Given the description of an element on the screen output the (x, y) to click on. 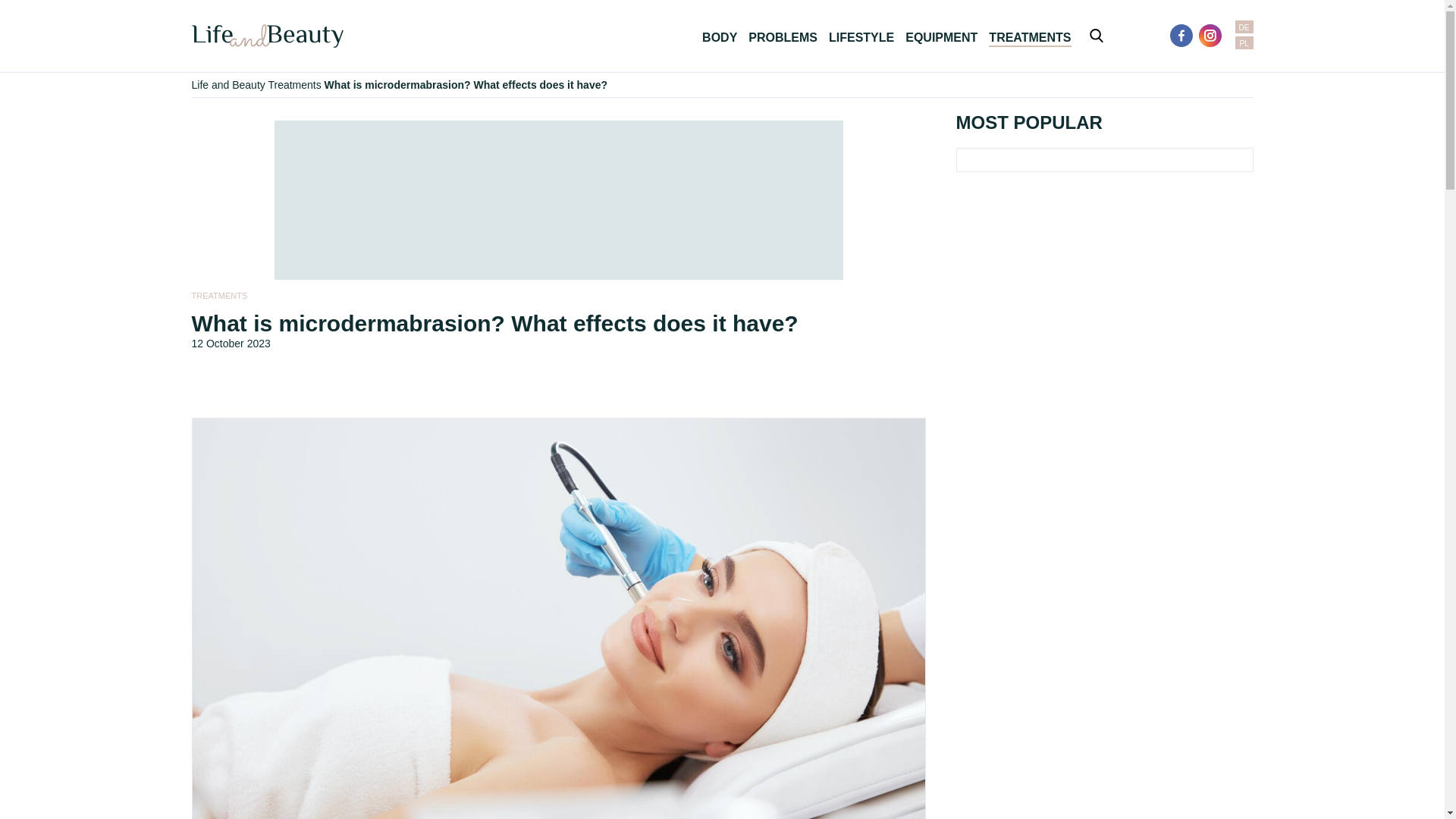
Life and Beauty (227, 84)
Advertisement (559, 196)
TREATMENTS (1029, 38)
BODY (718, 38)
Life And Beauty (266, 35)
DE (1243, 26)
Facebook (1181, 35)
TREATMENTS (218, 295)
EQUIPMENT (940, 38)
LIFESTYLE (860, 38)
PL (1243, 42)
Instagram (1209, 35)
PROBLEMS (782, 38)
Treatments (293, 84)
